Given the description of an element on the screen output the (x, y) to click on. 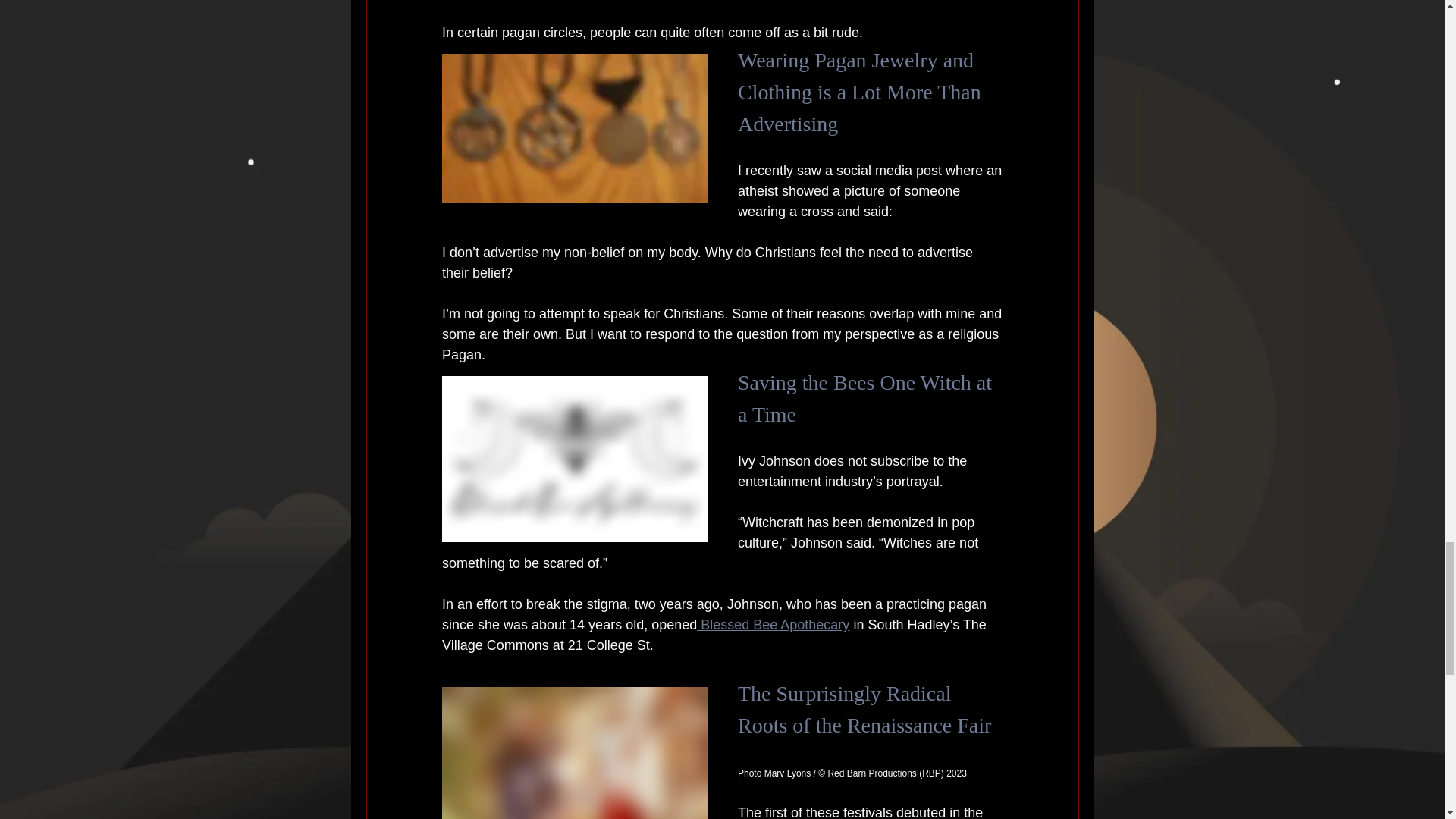
The Surprisingly Radical Roots of the Renaissance Fair (863, 709)
 Blessed Bee Apothecary (772, 624)
Saving the Bees One Witch at a Time (865, 398)
